Given the description of an element on the screen output the (x, y) to click on. 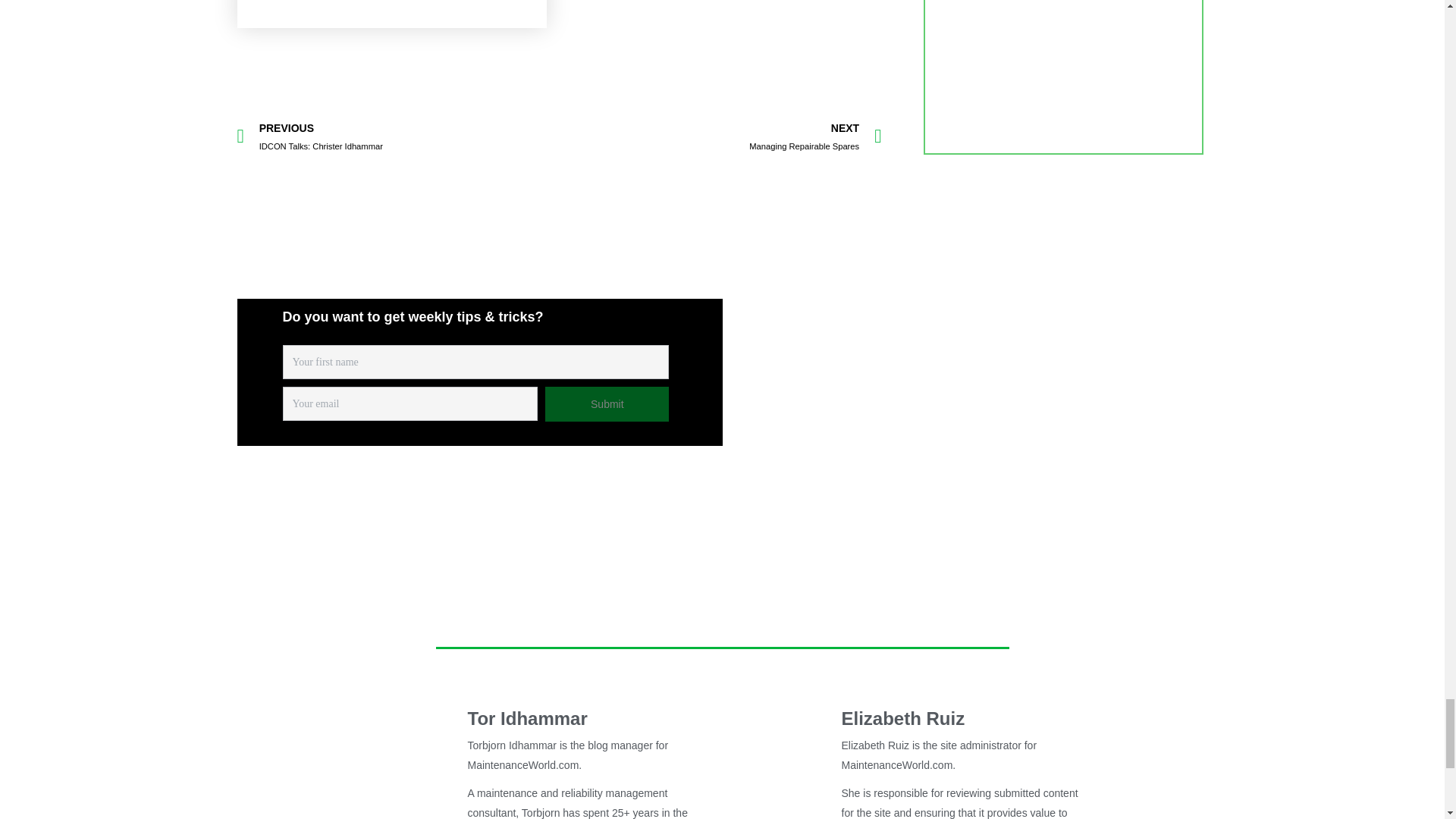
Submit (606, 403)
